Given the description of an element on the screen output the (x, y) to click on. 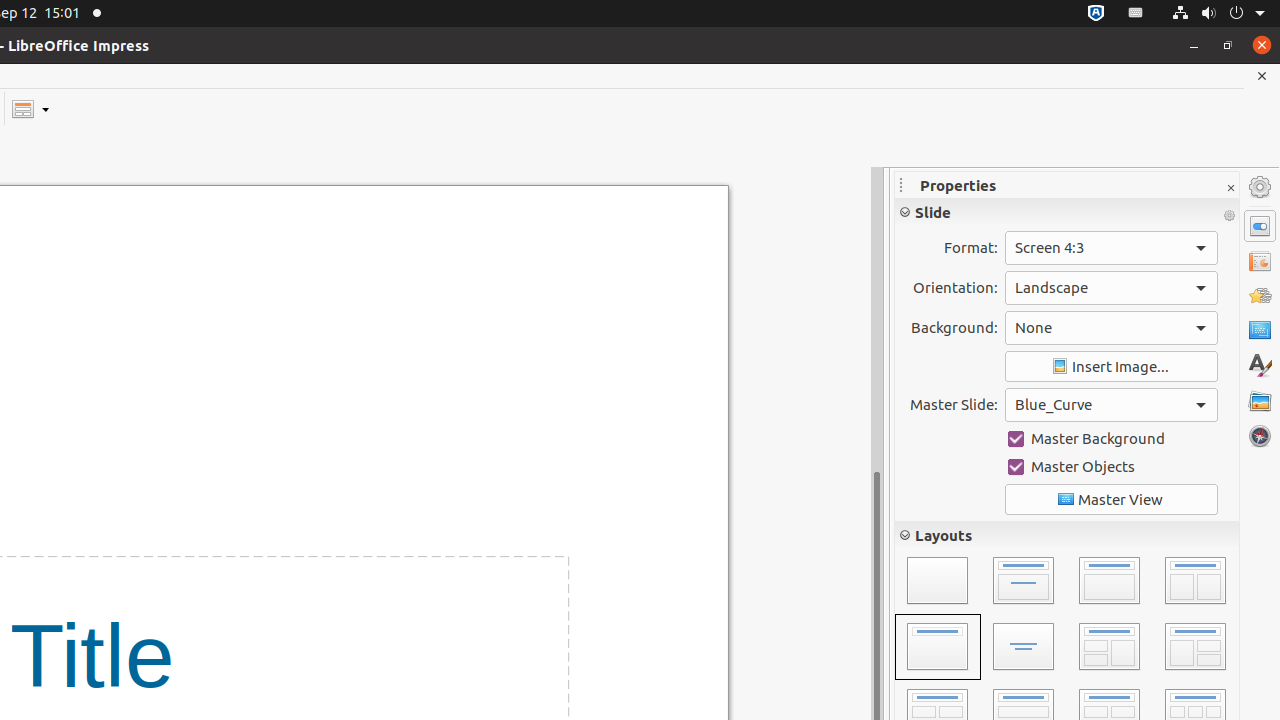
Font Size Element type: combo-box (1191, 248)
Font Name Element type: combo-box (1022, 248)
Subscript Element type: toggle-button (1220, 339)
Italic Element type: toggle-button (938, 293)
Navigator Element type: radio-button (1260, 436)
